Given the description of an element on the screen output the (x, y) to click on. 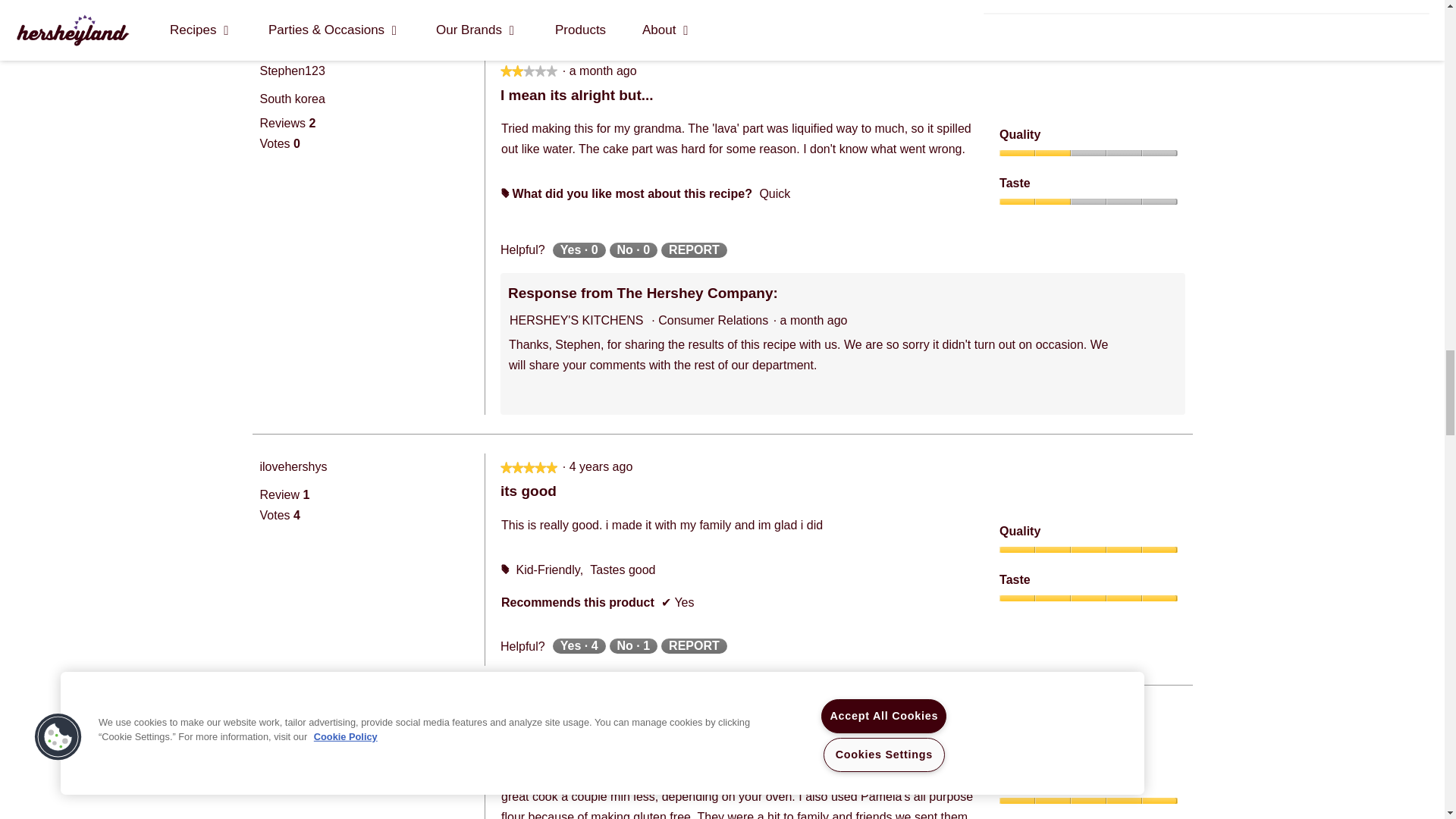
2 out of 5 stars. (511, 70)
2 out of 5 stars. (528, 70)
5 out of 5 stars. (528, 467)
5 out of 5 stars. (528, 718)
